Given the description of an element on the screen output the (x, y) to click on. 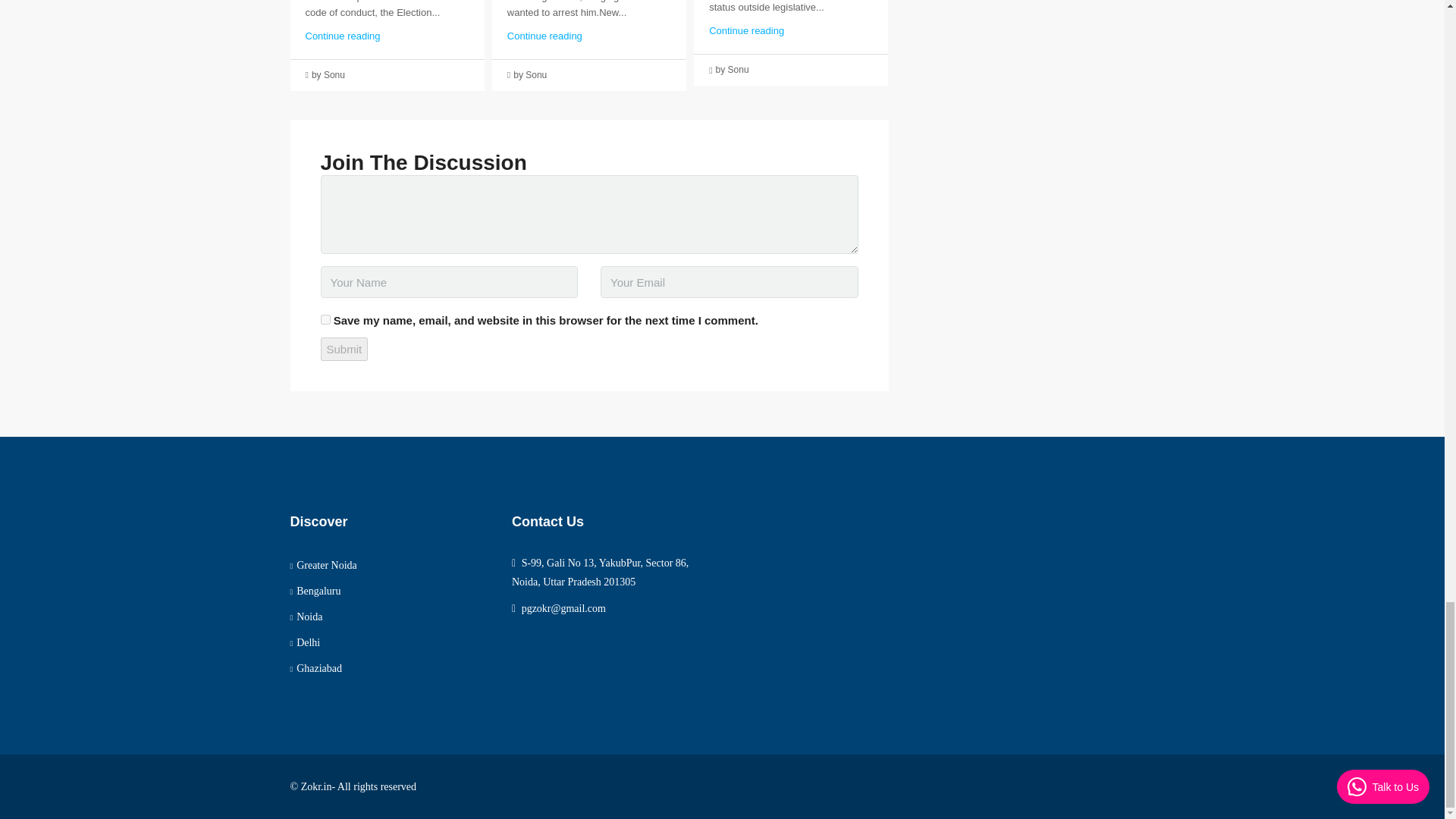
Submit (344, 349)
yes (325, 319)
Continue reading (544, 34)
Continue reading (746, 30)
Submit (344, 349)
Continue reading (342, 34)
